Given the description of an element on the screen output the (x, y) to click on. 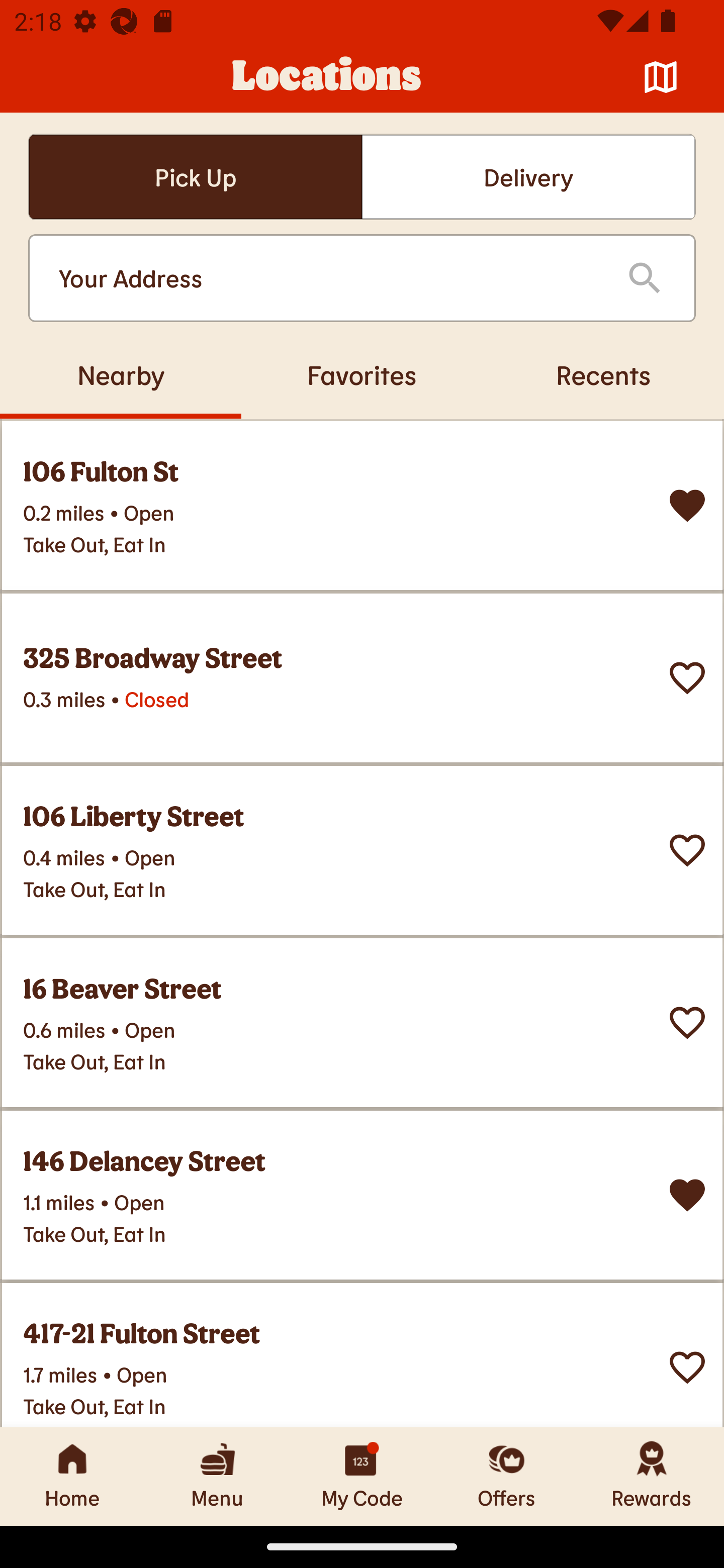
Map 󰦂 (660, 77)
Locations (326, 77)
Pick UpSelected Pick UpSelected Pick Up (195, 176)
Delivery Delivery Delivery (528, 176)
Your Address (327, 277)
Nearby (120, 374)
Favorites (361, 374)
Recents (603, 374)
Remove from Favorites?  (687, 505)
Set this restaurant as a favorite  (687, 677)
Set this restaurant as a favorite  (687, 850)
Set this restaurant as a favorite  (687, 1022)
Remove from Favorites?  (687, 1195)
Set this restaurant as a favorite  (687, 1367)
Home (72, 1475)
Menu (216, 1475)
My Code (361, 1475)
Offers (506, 1475)
Rewards (651, 1475)
